Given the description of an element on the screen output the (x, y) to click on. 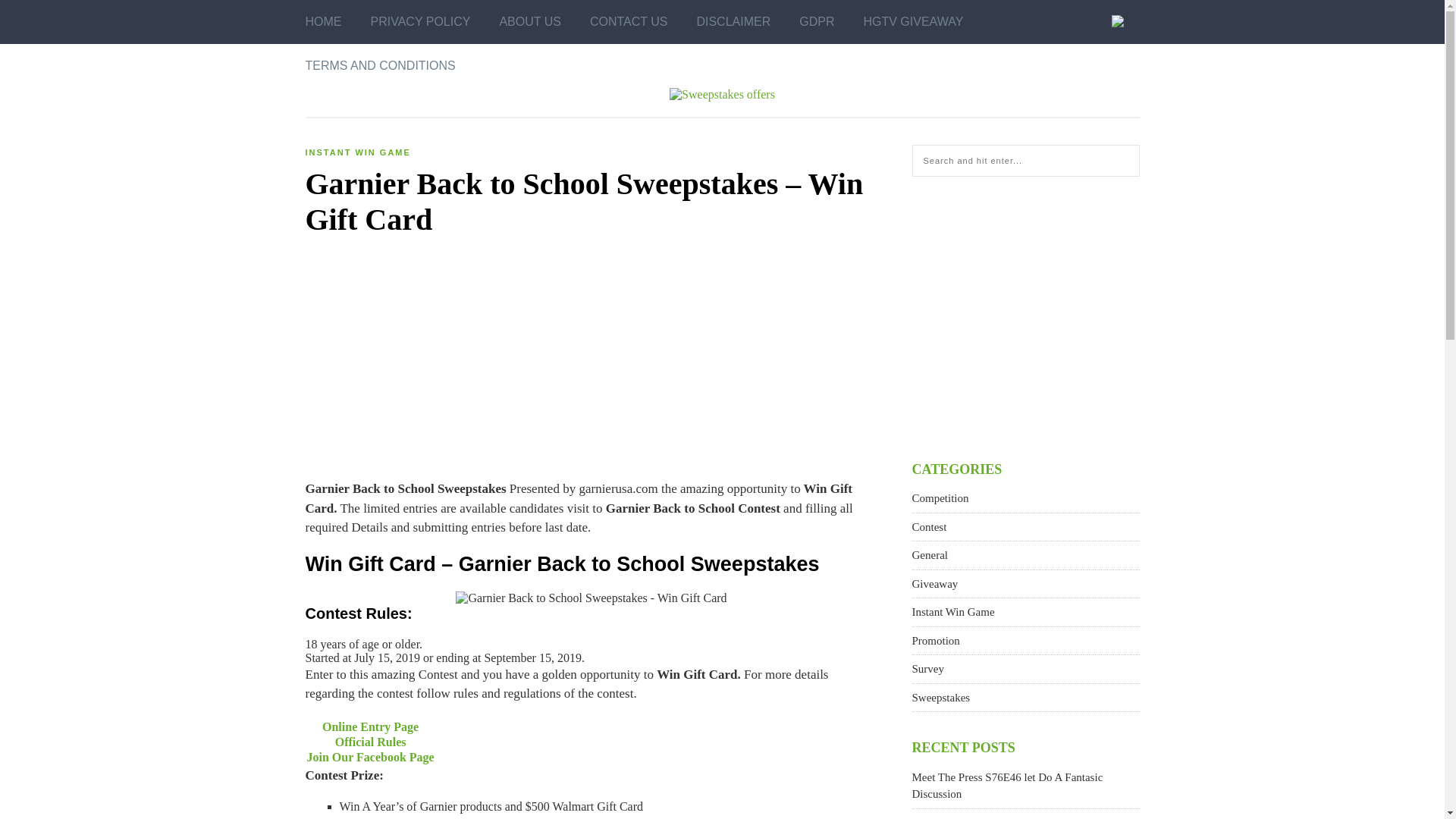
View all posts in Instant Win Game (357, 152)
Official Rules (370, 741)
HOME (322, 22)
Join Our Facebook Page (369, 757)
Online Entry Page (370, 726)
CONTACT US (628, 22)
DISCLAIMER (732, 22)
GDPR (816, 22)
ABOUT US (529, 22)
Competition (939, 498)
PRIVACY POLICY (419, 22)
TERMS AND CONDITIONS (379, 65)
INSTANT WIN GAME (357, 152)
HGTV GIVEAWAY (912, 22)
